Given the description of an element on the screen output the (x, y) to click on. 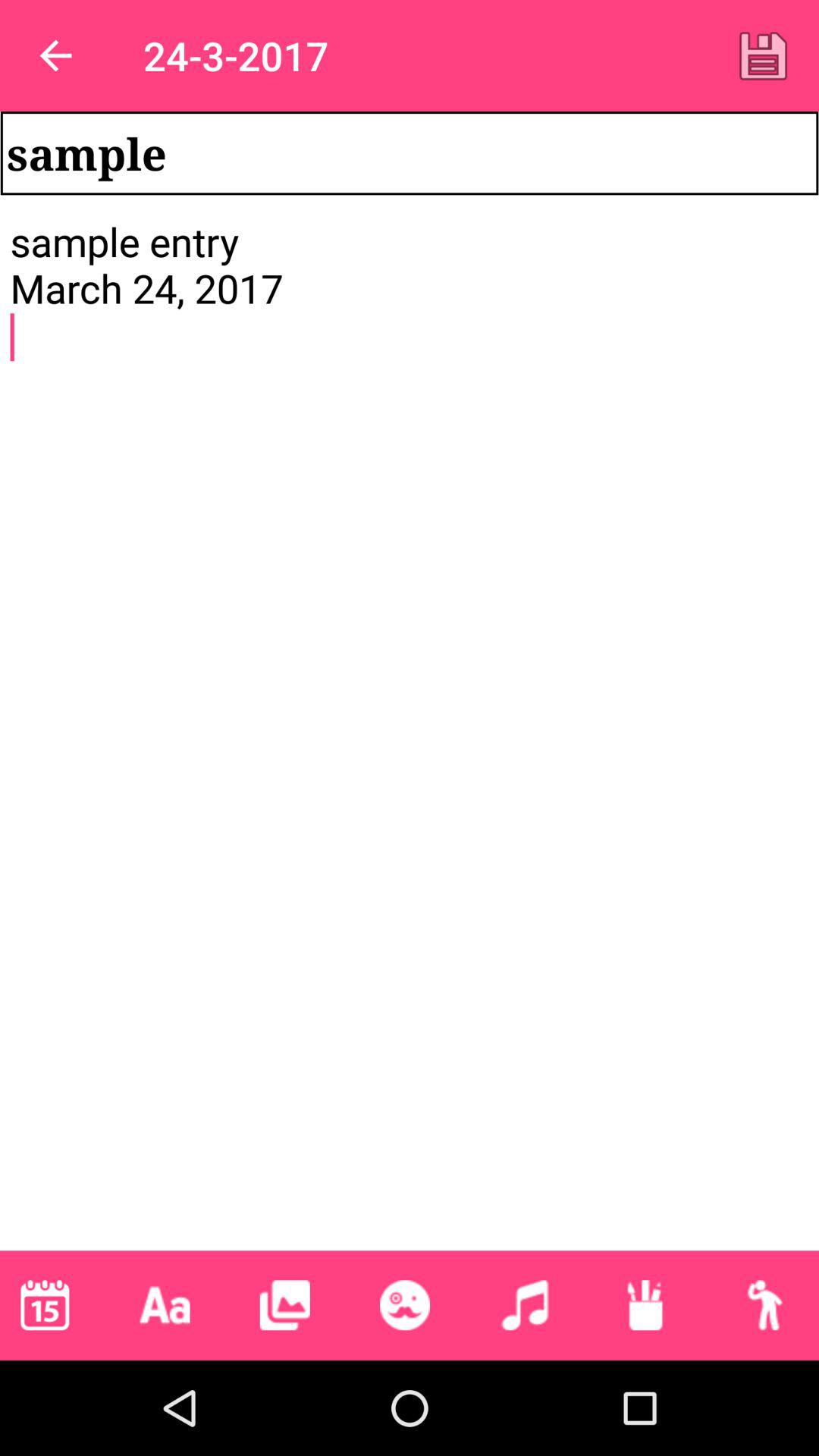
launch the item at the top right corner (763, 55)
